Given the description of an element on the screen output the (x, y) to click on. 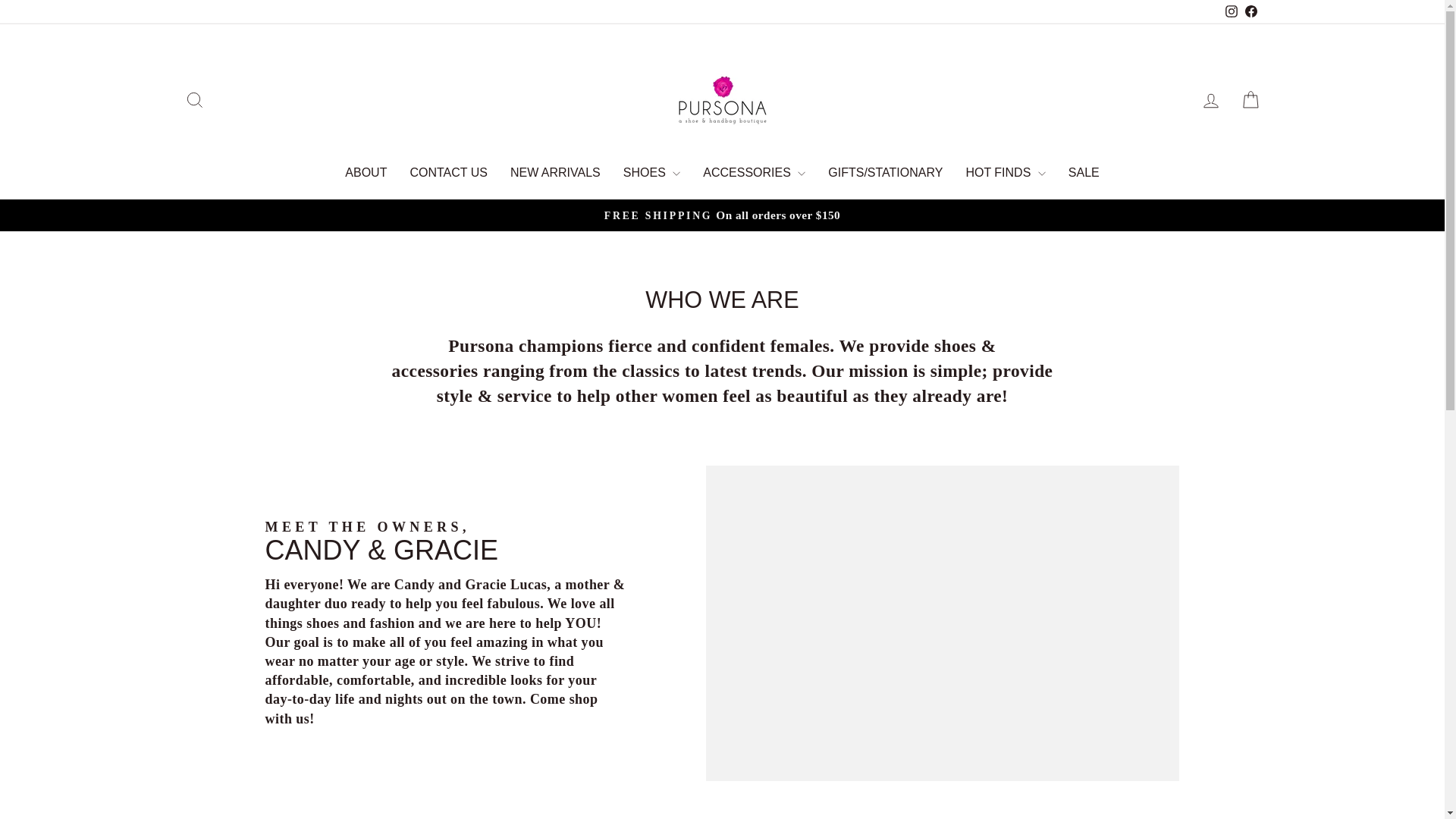
NEW ARRIVALS (555, 172)
ACCOUNT (194, 100)
CONTACT US (1210, 100)
instagram (1210, 100)
ABOUT (448, 172)
CART (1231, 10)
ICON-SEARCH (365, 172)
